Given the description of an element on the screen output the (x, y) to click on. 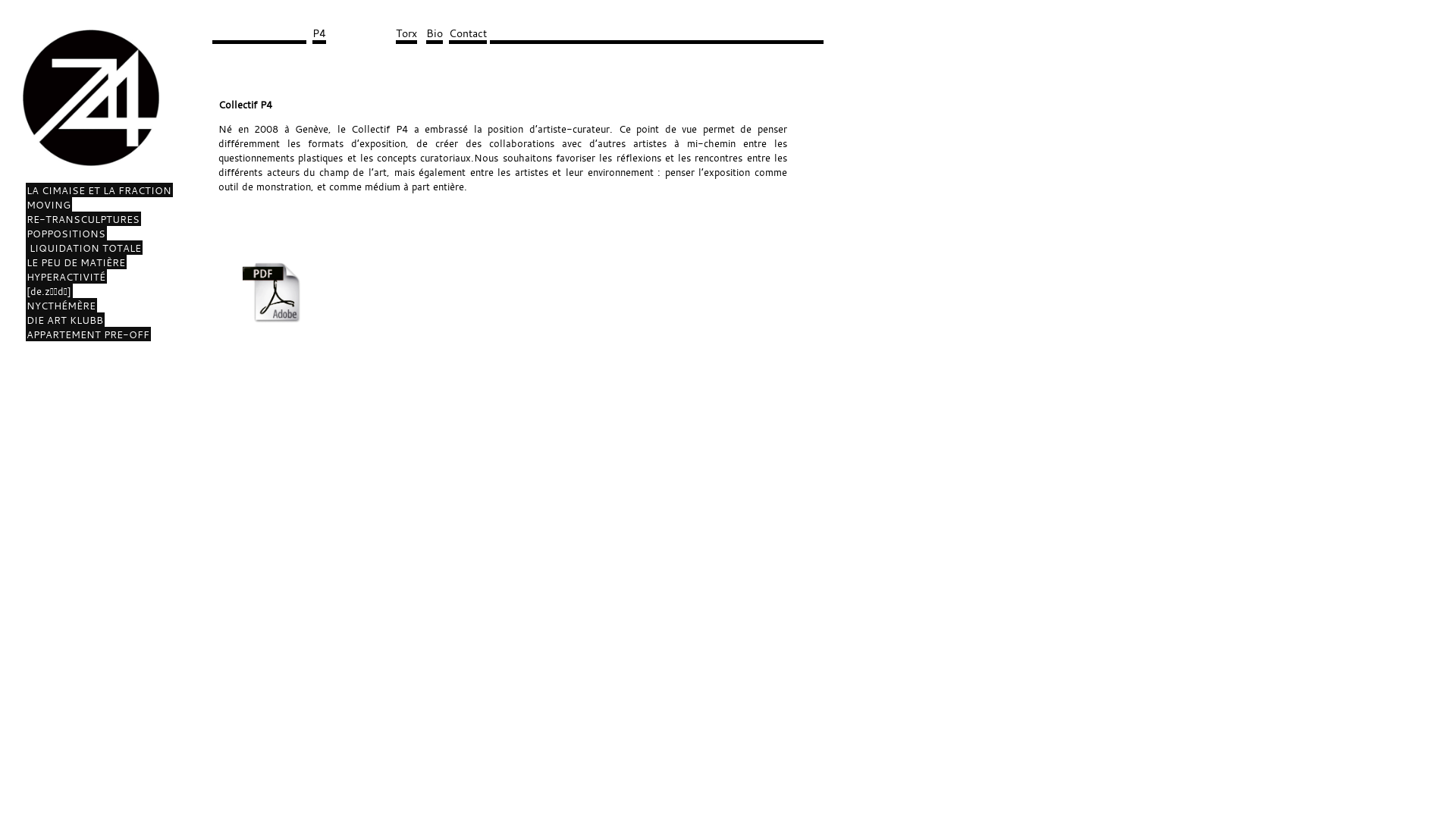
                                Element type: text (259, 34)
DIE ART KLUBB Element type: text (64, 319)
Torx Element type: text (406, 34)
RE-TRANSCULPTURES Element type: text (83, 218)
Bio Element type: text (434, 34)
LA CIMAISE ET LA FRACTION Element type: text (98, 189)
MOVING Element type: text (48, 204)
Contact Element type: text (467, 34)
LIQUIDATION TOTALE Element type: text (83, 247)
POPPOSITIONS Element type: text (65, 232)
APPARTEMENT PRE-OFF Element type: text (87, 333)
P4 Element type: text (319, 34)
